Given the description of an element on the screen output the (x, y) to click on. 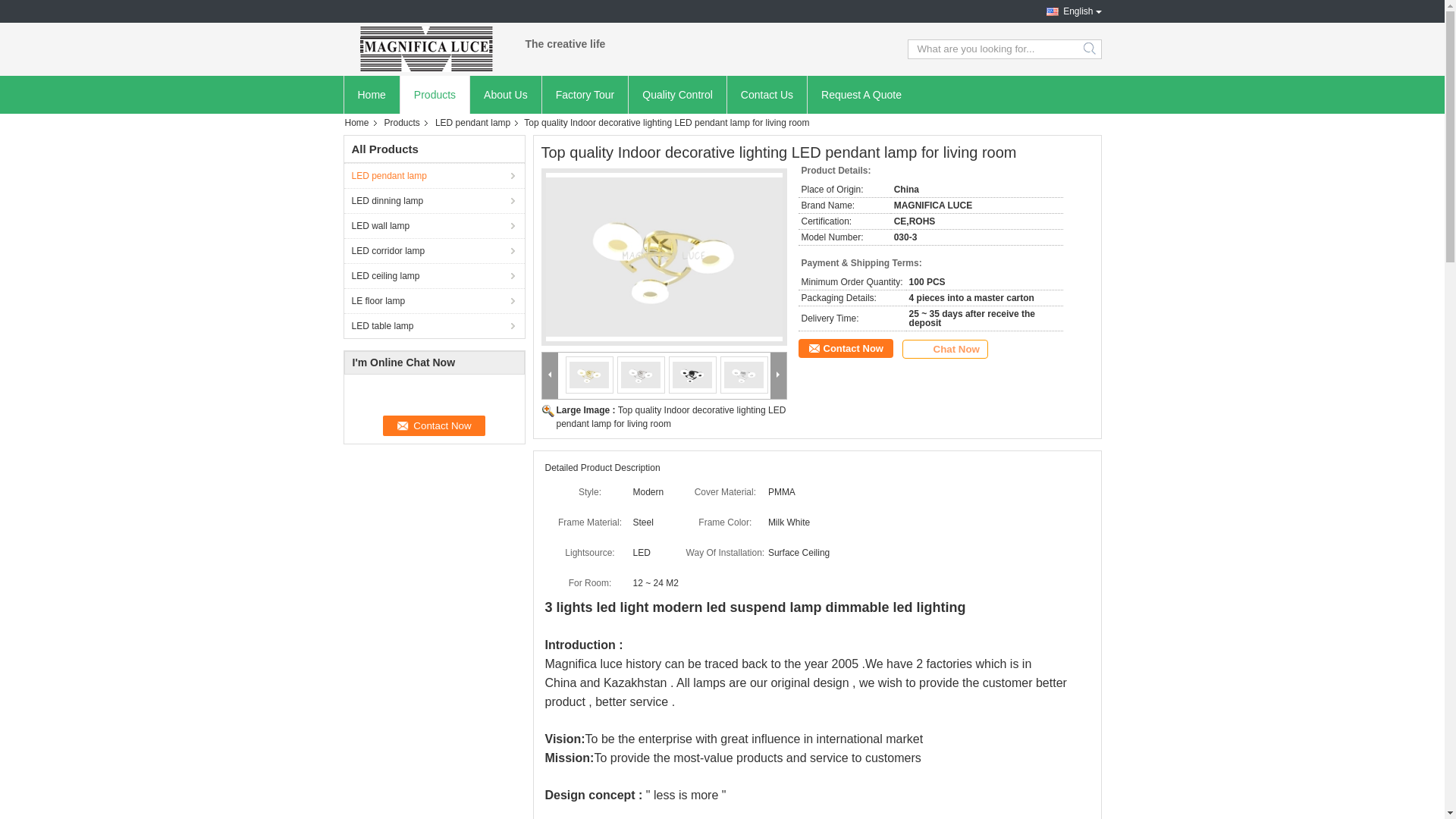
Request A Quote Element type: text (861, 94)
LED pendant lamp Element type: text (474, 122)
About Us Element type: text (505, 94)
Contact Us Element type: text (766, 94)
LED corridor lamp Element type: text (434, 250)
Request A Quote Element type: text (860, 94)
Contact Now Element type: text (844, 347)
Chat Now Element type: text (945, 348)
LED dinning lamp Element type: text (434, 200)
Factory Tour Element type: text (584, 94)
Products Element type: text (434, 94)
English Element type: text (1069, 11)
LED table lamp Element type: text (434, 325)
LE floor lamp Element type: text (434, 300)
Contact Now Element type: text (433, 425)
Home Element type: text (370, 94)
LED ceiling lamp Element type: text (434, 275)
Quality Control Element type: text (676, 94)
LED wall lamp Element type: text (434, 225)
Products Element type: text (403, 122)
LED pendant lamp Element type: text (434, 175)
Home Element type: text (360, 122)
